Given the description of an element on the screen output the (x, y) to click on. 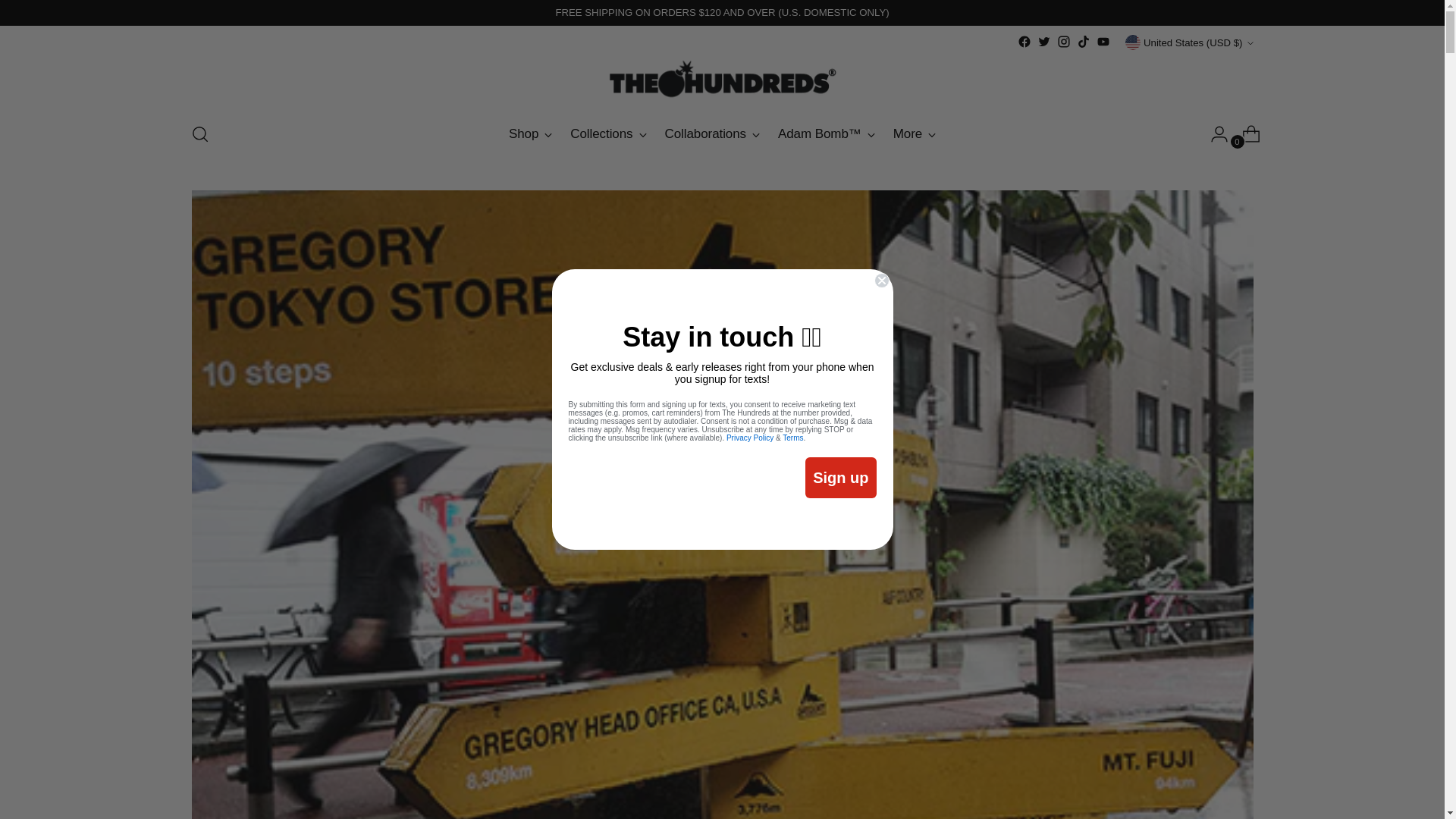
The Hundreds on Instagram (1063, 41)
The Hundreds on Tiktok (1083, 41)
The Hundreds on YouTube (1102, 41)
The Hundreds on Twitter (1043, 41)
The Hundreds on Facebook (1023, 41)
